Given the description of an element on the screen output the (x, y) to click on. 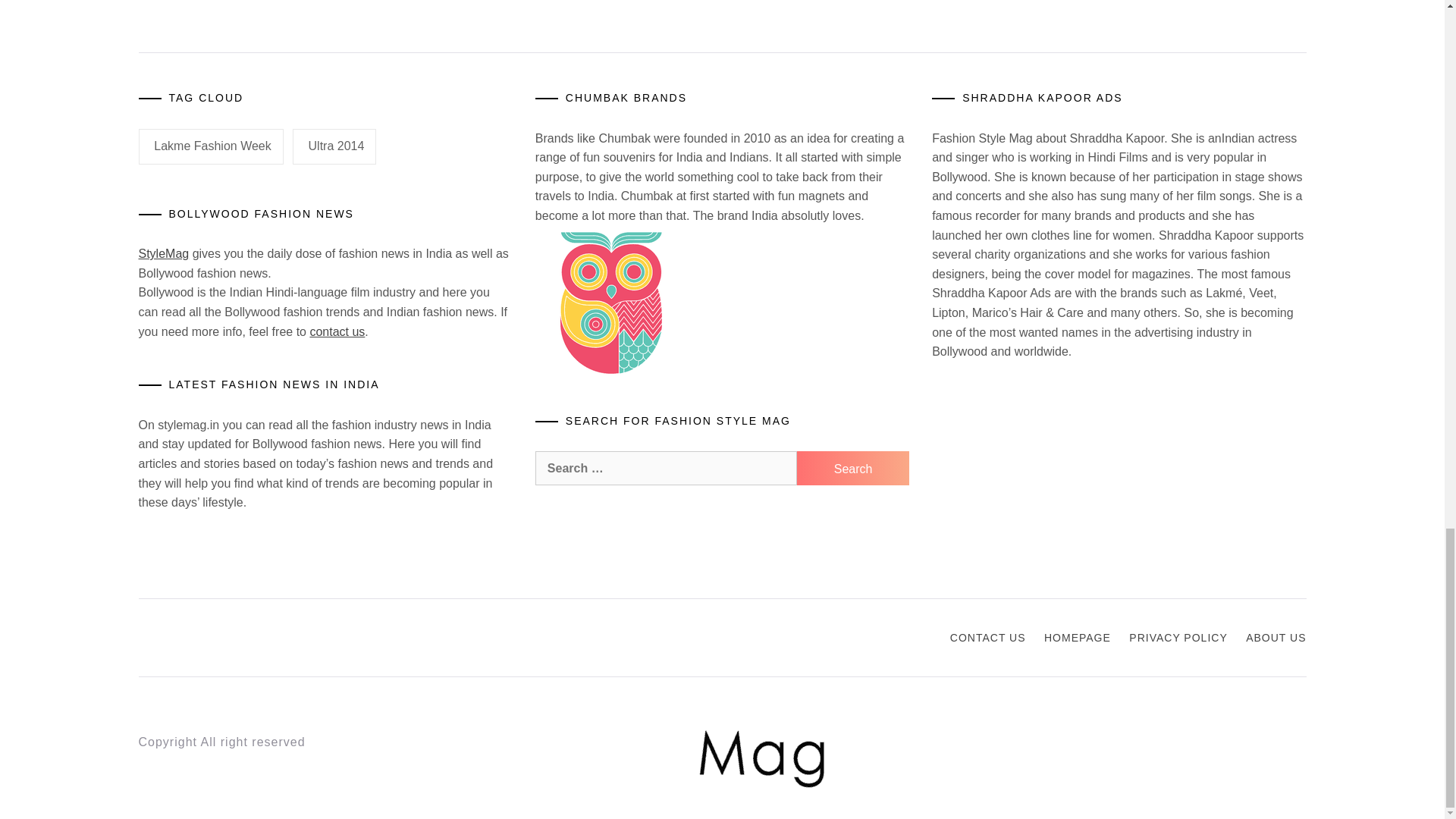
contact us (336, 331)
Search (852, 468)
Search (852, 468)
StyleMag (163, 253)
Ultra 2014 (334, 146)
Lakme Fashion Week (210, 146)
Search (852, 468)
